Given the description of an element on the screen output the (x, y) to click on. 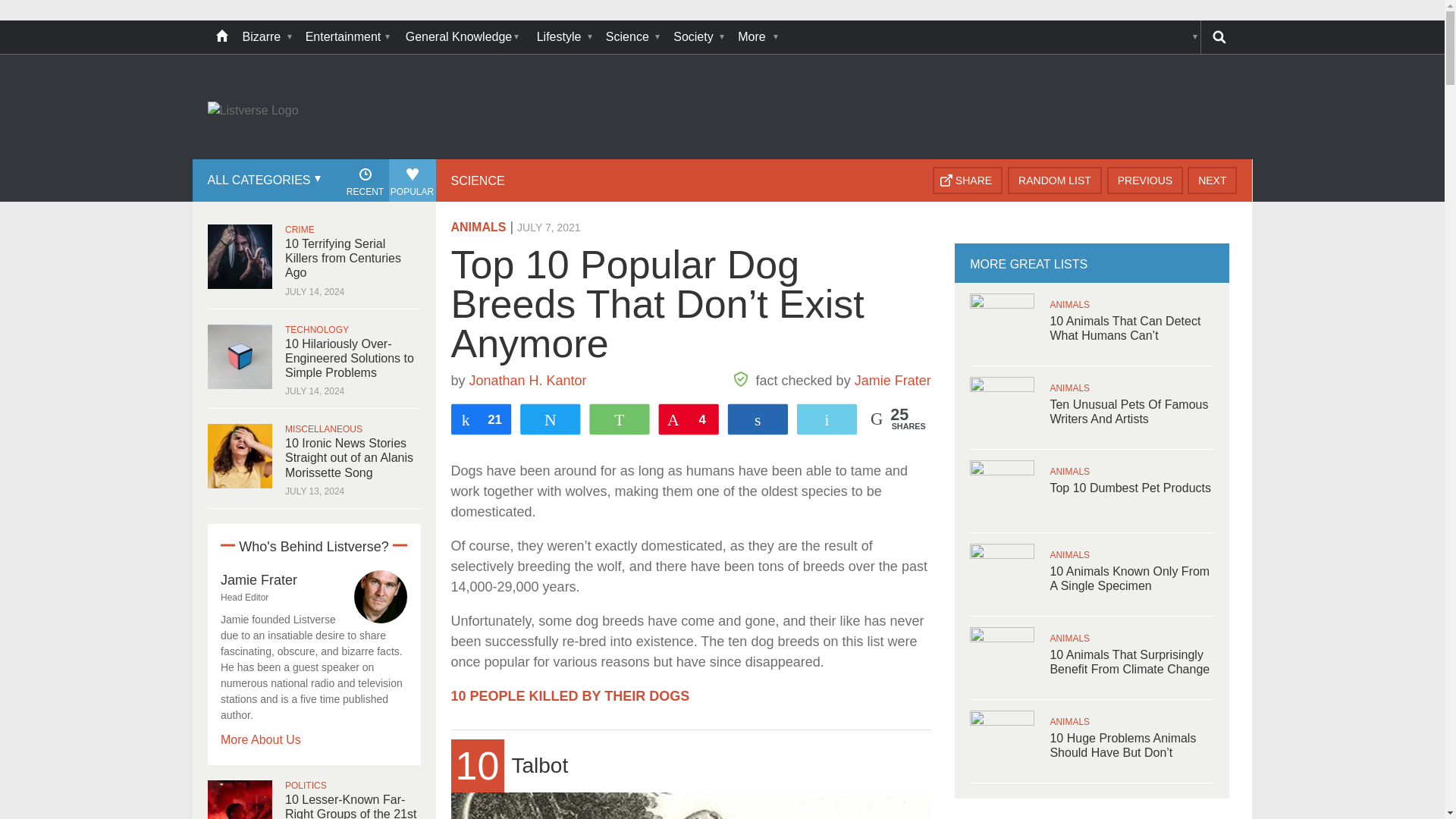
More (756, 37)
Go to Home (253, 110)
Bizarre (266, 37)
Entertainment (347, 37)
Popular (411, 179)
Society (697, 37)
All Categories (262, 179)
Recent (364, 179)
Science (631, 37)
Share (968, 180)
General Knowledge (462, 37)
Lifestyle (563, 37)
